Given the description of an element on the screen output the (x, y) to click on. 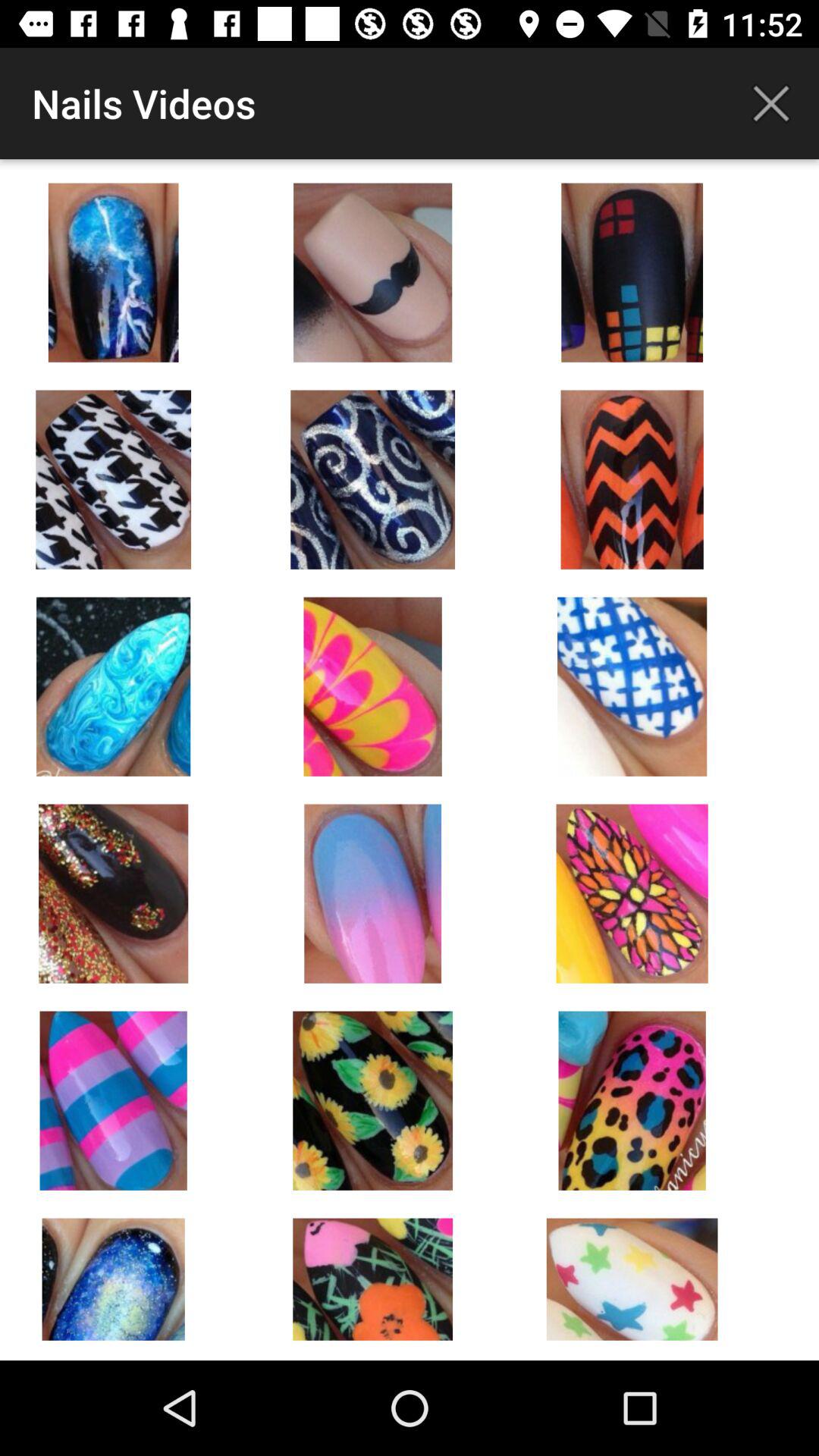
close current screen (771, 103)
